Given the description of an element on the screen output the (x, y) to click on. 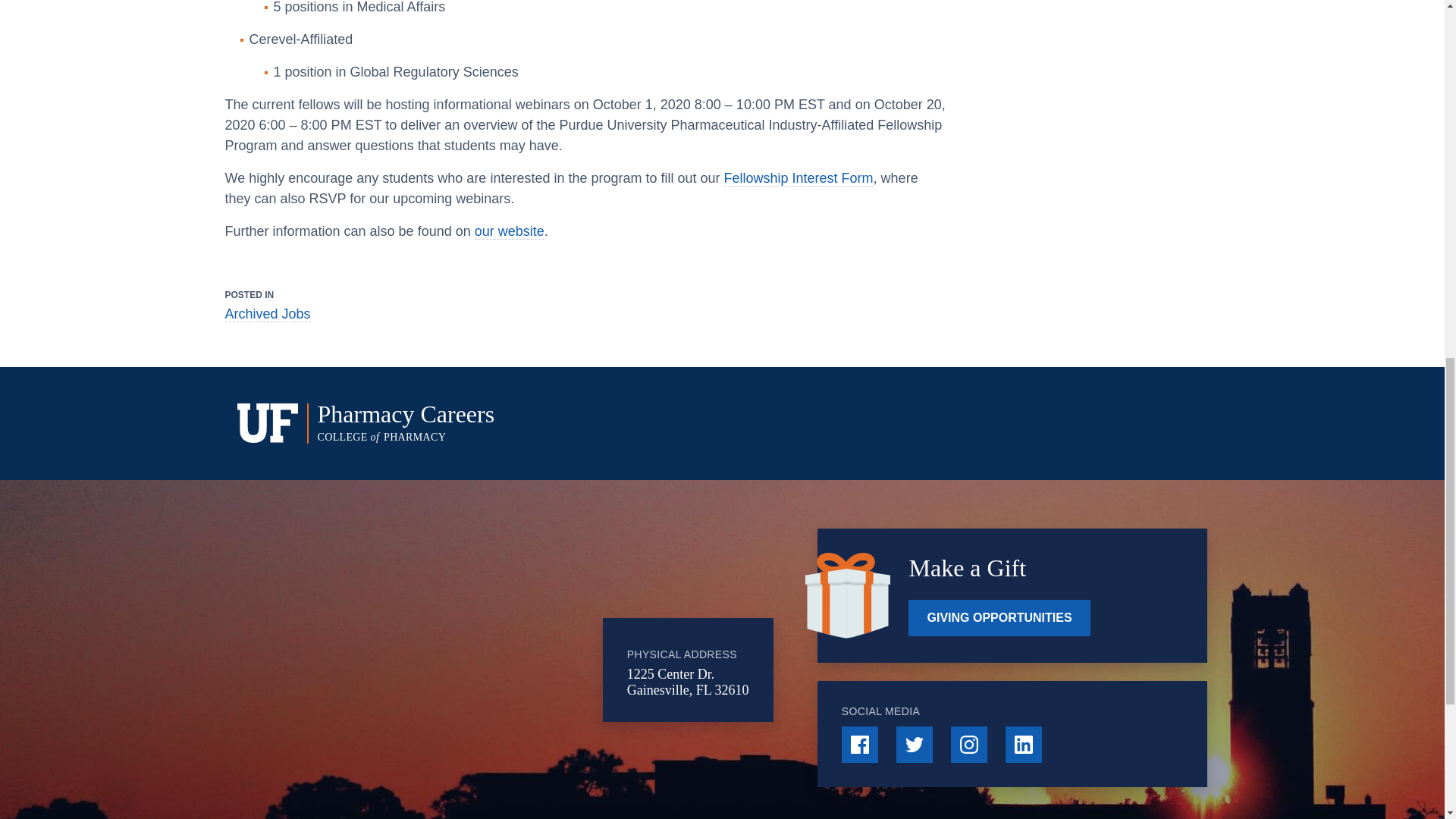
our website (509, 231)
Fellowship Interest Form (798, 178)
Google Maps Embed (478, 669)
Archived Jobs (267, 314)
